Given the description of an element on the screen output the (x, y) to click on. 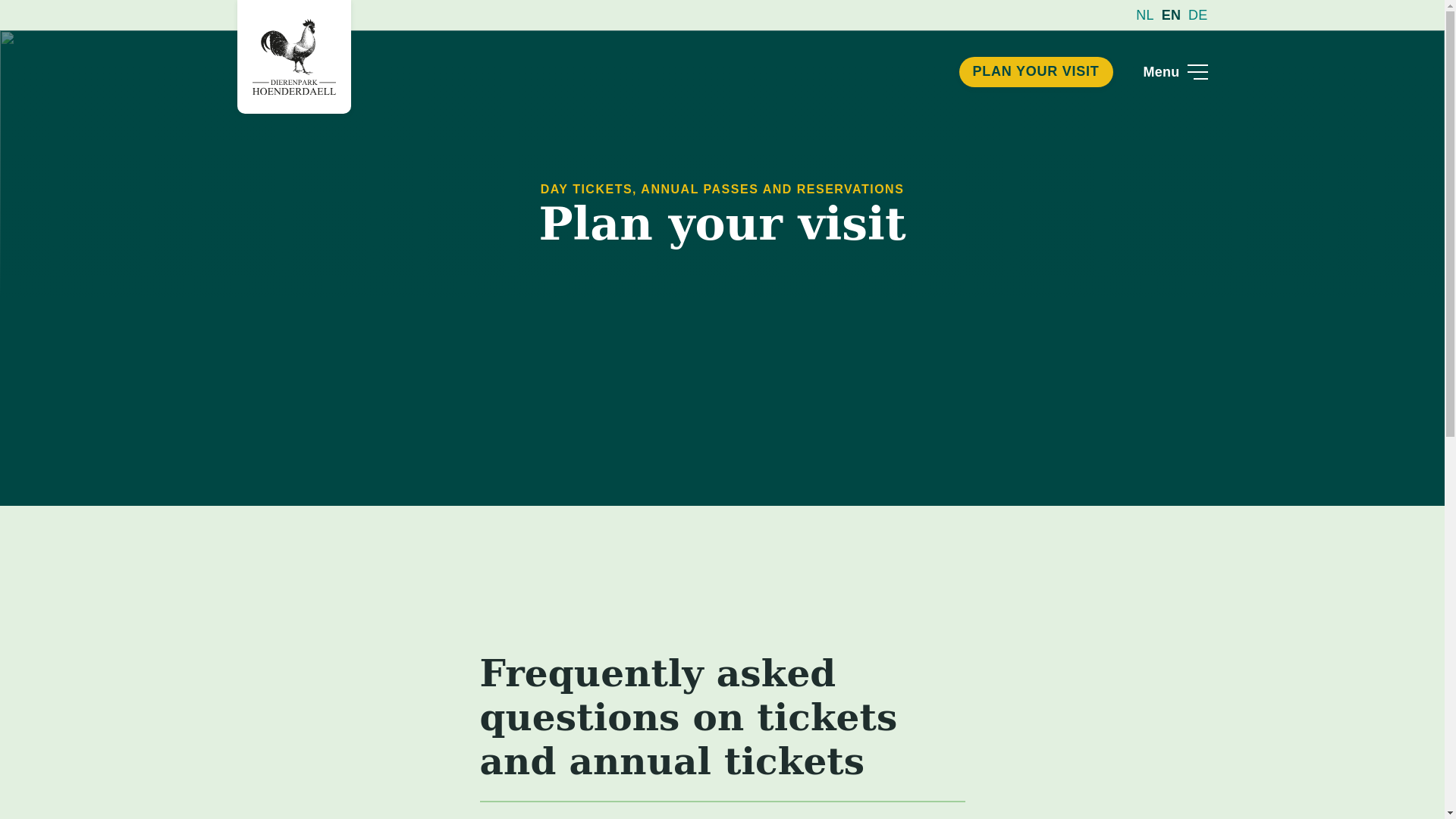
Menu (1175, 71)
PLAN YOUR VISIT (1036, 71)
Buy annual pass (662, 481)
DE (1198, 15)
EN (1171, 15)
NL (1144, 15)
